Given the description of an element on the screen output the (x, y) to click on. 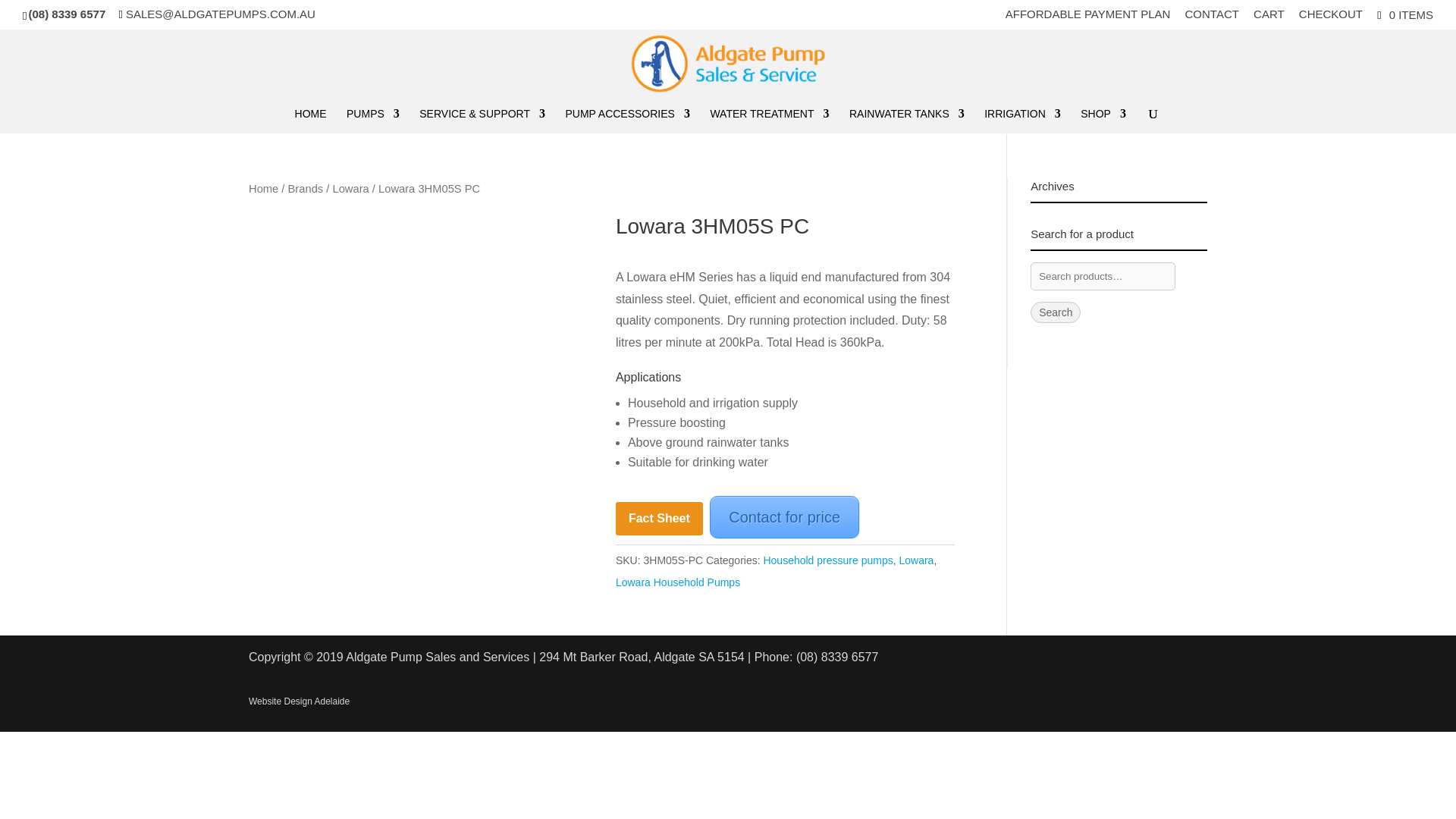
CART (1268, 17)
0 ITEMS (1403, 14)
CHECKOUT (1330, 17)
AFFORDABLE PAYMENT PLAN (1088, 17)
PUMPS (372, 120)
HOME (310, 120)
CONTACT (1212, 17)
website adelaide (298, 701)
WATER TREATMENT (769, 120)
PUMP ACCESSORIES (626, 120)
